Given the description of an element on the screen output the (x, y) to click on. 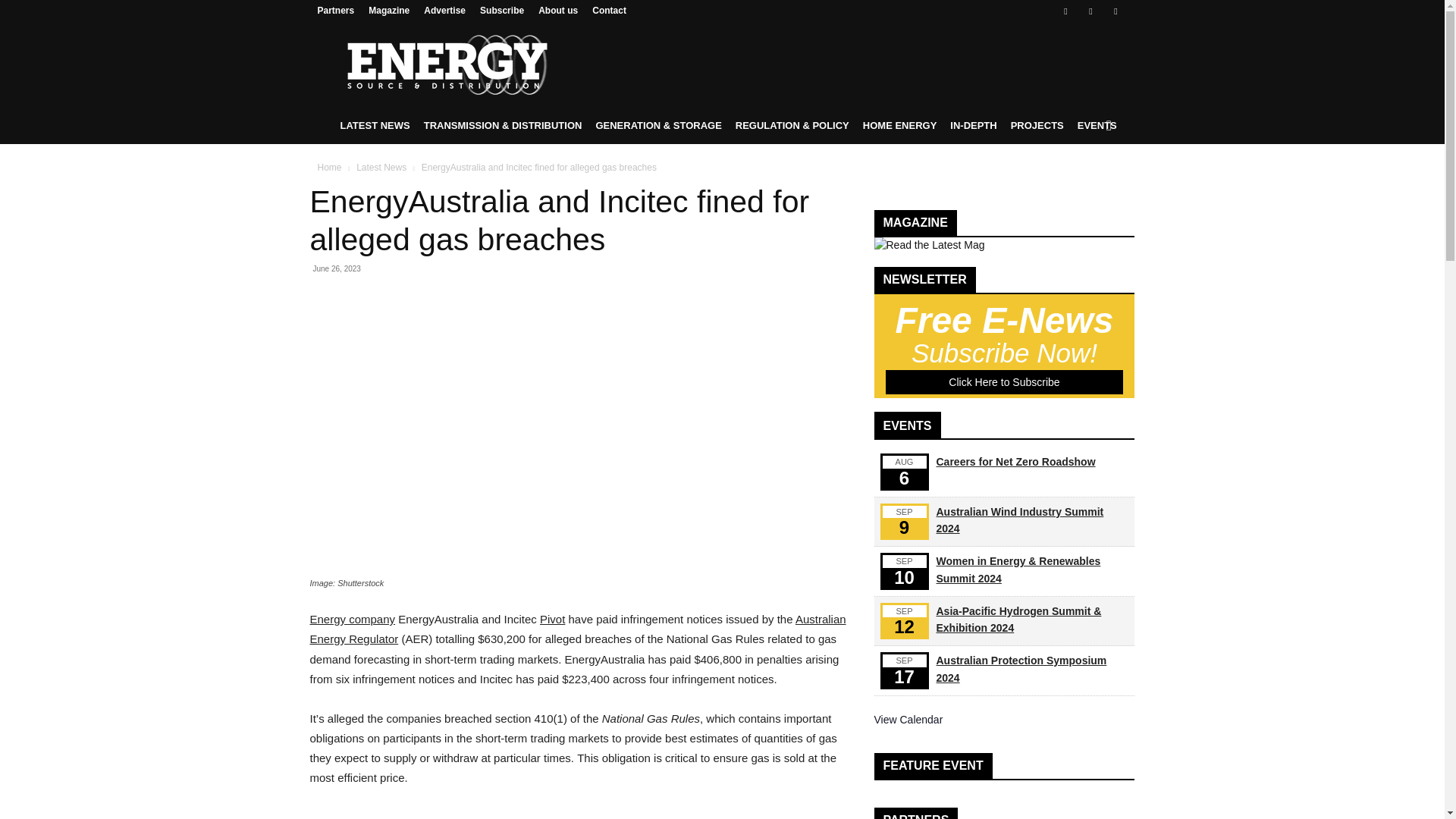
Subscribe (502, 9)
Advertise (444, 9)
Home (328, 167)
LATEST NEWS (374, 125)
HOME ENERGY (899, 125)
Twitter (1114, 10)
View all posts in Latest News (381, 167)
EVENTS (1097, 125)
Contact (609, 9)
Partners (335, 9)
